Given the description of an element on the screen output the (x, y) to click on. 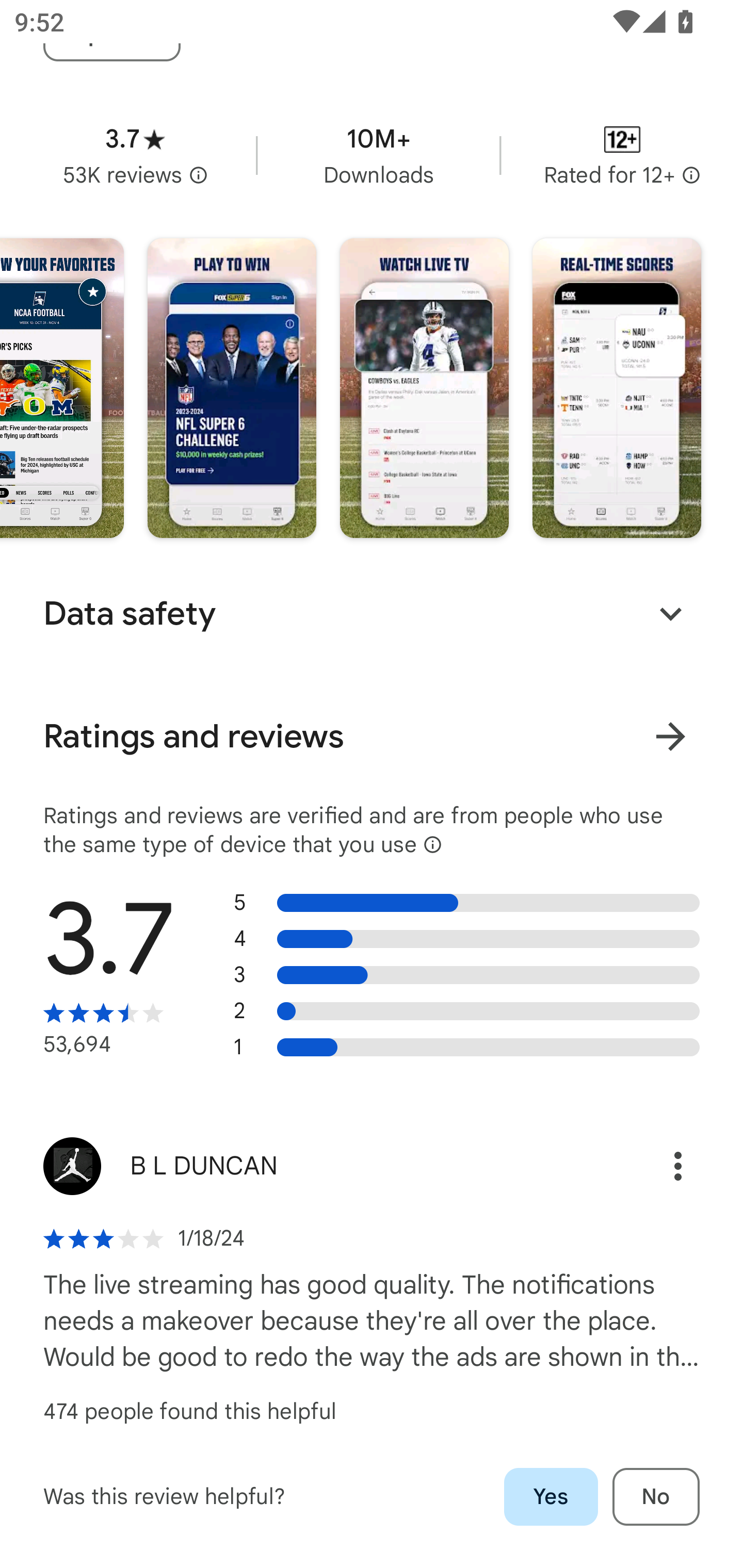
Average rating 3.7 stars in 53 thousand reviews (135, 155)
Content rating Rated for 12+ (622, 155)
Screenshot "2" of "5" (62, 387)
Screenshot "3" of "5" (231, 387)
Screenshot "4" of "5" (424, 387)
Screenshot "5" of "5" (616, 387)
Data safety Expand (371, 613)
Expand (670, 613)
Ratings and reviews View all ratings and reviews (371, 736)
View all ratings and reviews (670, 736)
Options (655, 1165)
Yes (550, 1496)
No (655, 1496)
